Given the description of an element on the screen output the (x, y) to click on. 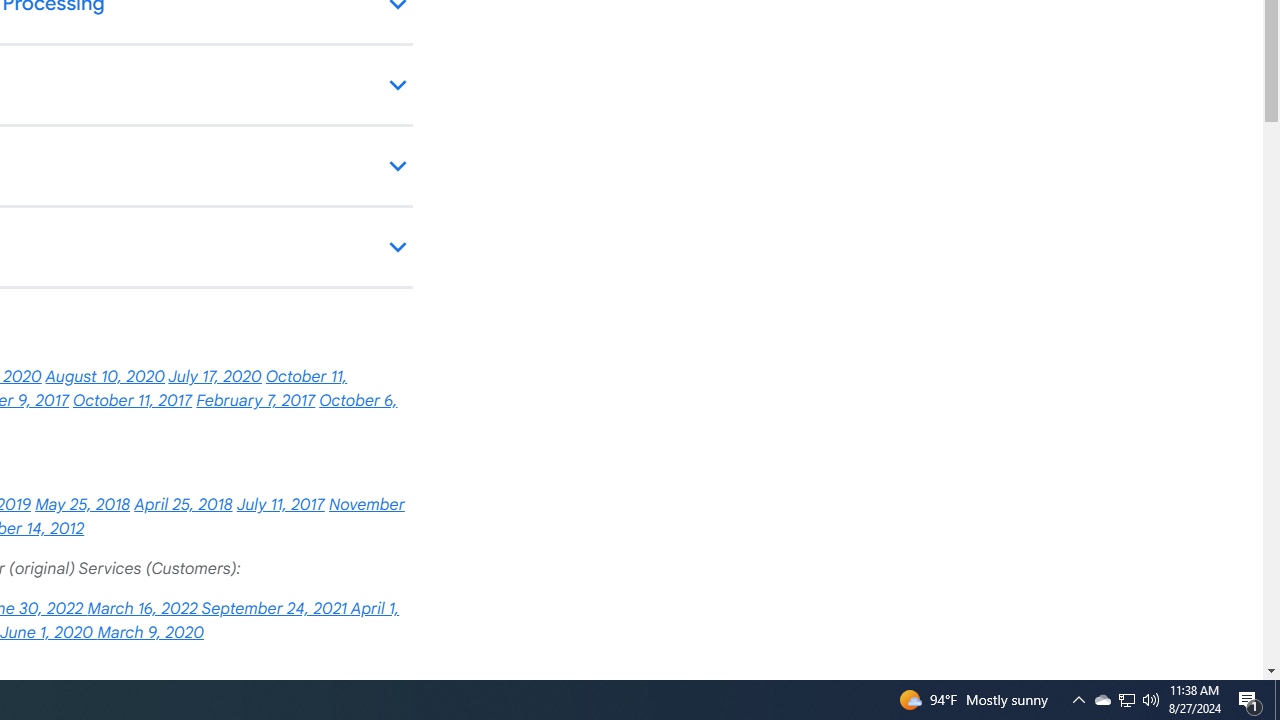
May 25, 2018 (82, 504)
October 11, 2017 (132, 400)
February 7, 2017 (255, 400)
April 25, 2018 (183, 504)
July 11, 2017 (280, 504)
August 10, 2020 (105, 377)
July 17, 2020 (214, 377)
March 9, 2020 (150, 632)
